Given the description of an element on the screen output the (x, y) to click on. 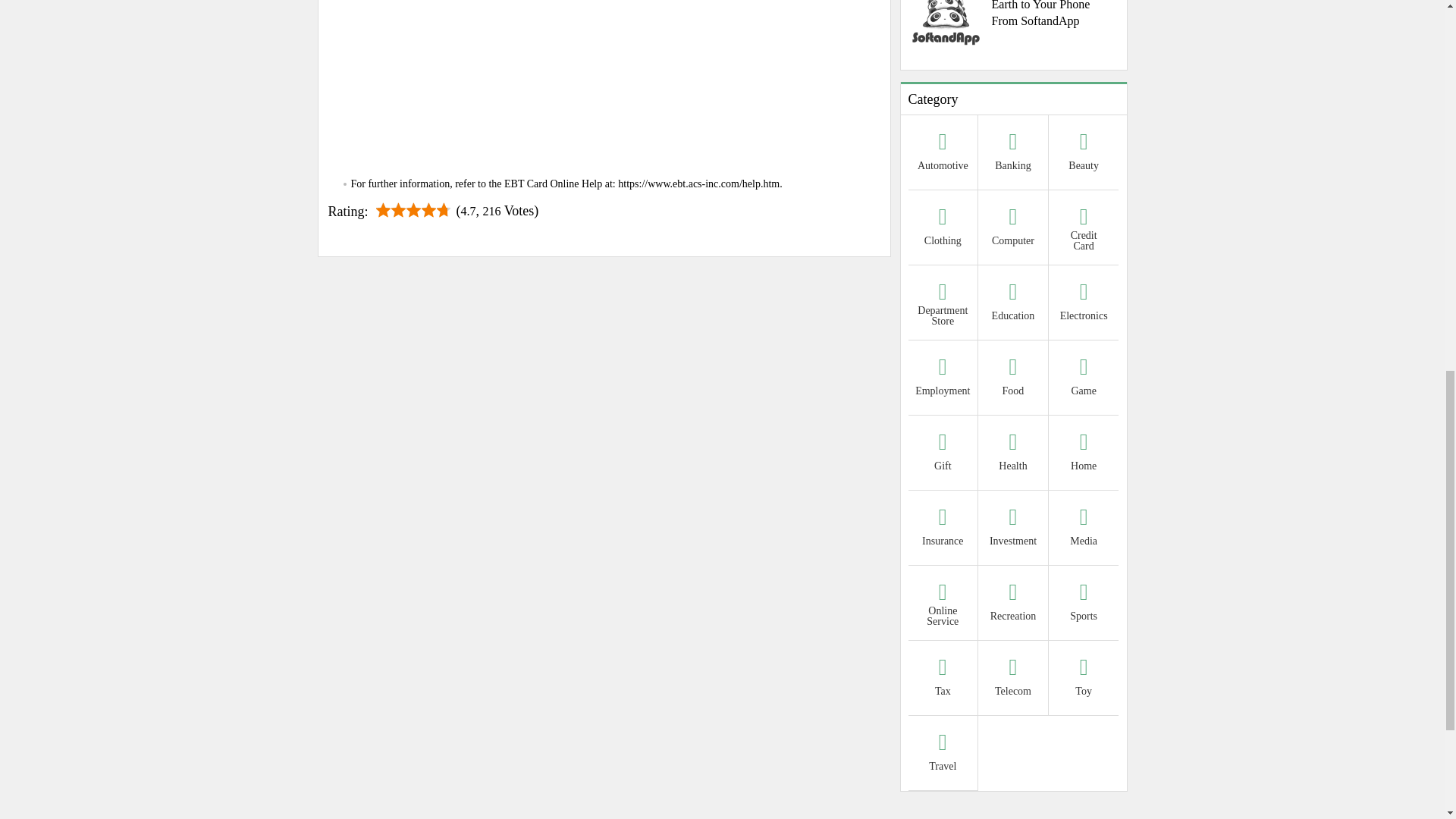
Computer (1013, 229)
Home (1083, 454)
Automotive (943, 154)
Department Store (943, 304)
Health (1013, 454)
Insurance (943, 529)
Electronics (1083, 304)
Education (1013, 304)
Banking (1013, 154)
